Given the description of an element on the screen output the (x, y) to click on. 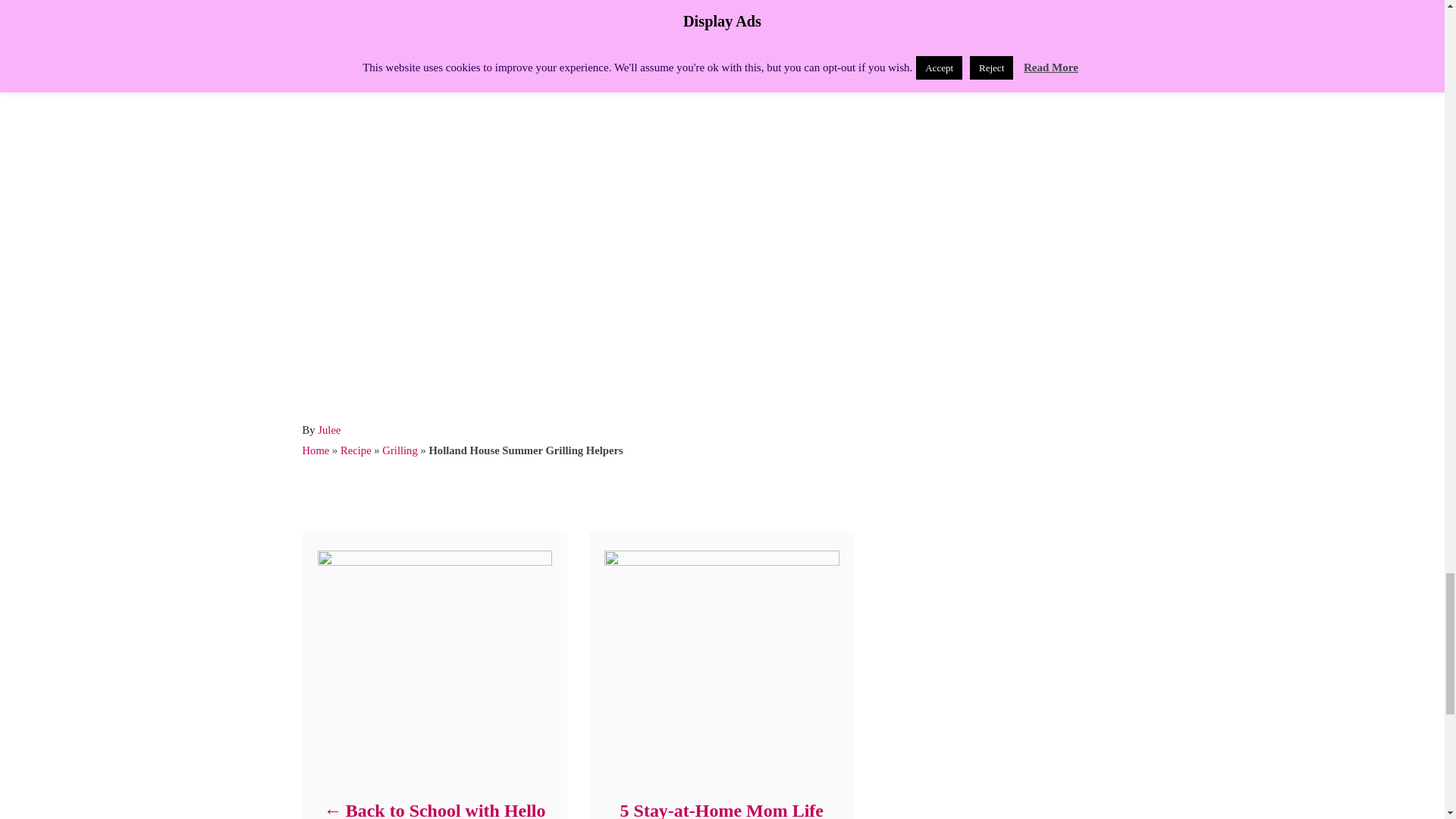
Back to School with Hello Kitty (434, 807)
Recipe (355, 450)
5 Stay-at-Home Mom Life Insurance Shopping Tips (721, 807)
Home (315, 450)
Grilling (398, 450)
Pin Me! (419, 0)
Julee (328, 428)
